Given the description of an element on the screen output the (x, y) to click on. 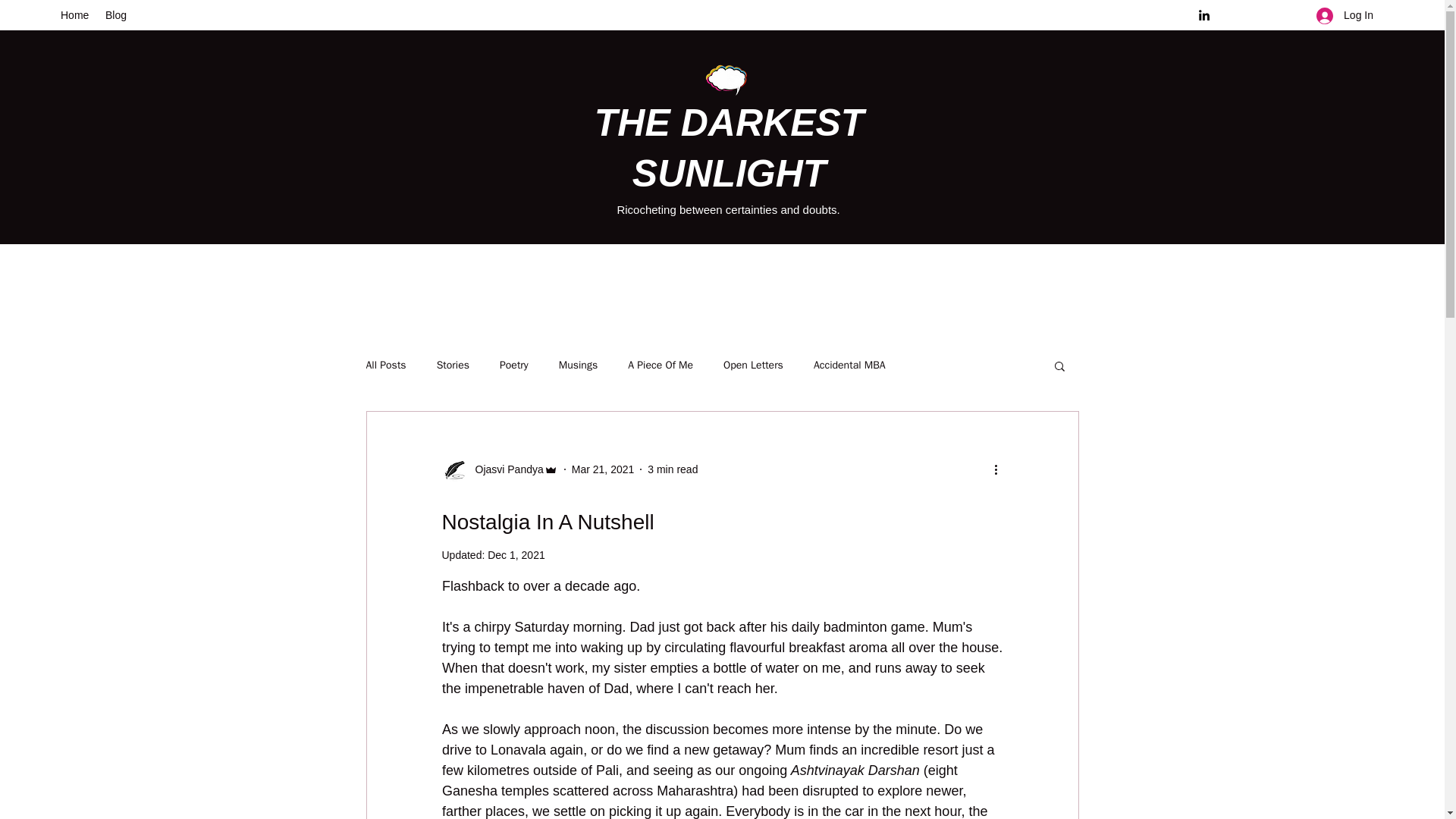
Musings (577, 365)
Ojasvi Pandya (504, 468)
All Posts (385, 365)
Dec 1, 2021 (515, 554)
Log In (1345, 15)
Open Letters (753, 365)
A Piece Of Me (660, 365)
Stories (452, 365)
Poetry (513, 365)
Home (74, 15)
